Given the description of an element on the screen output the (x, y) to click on. 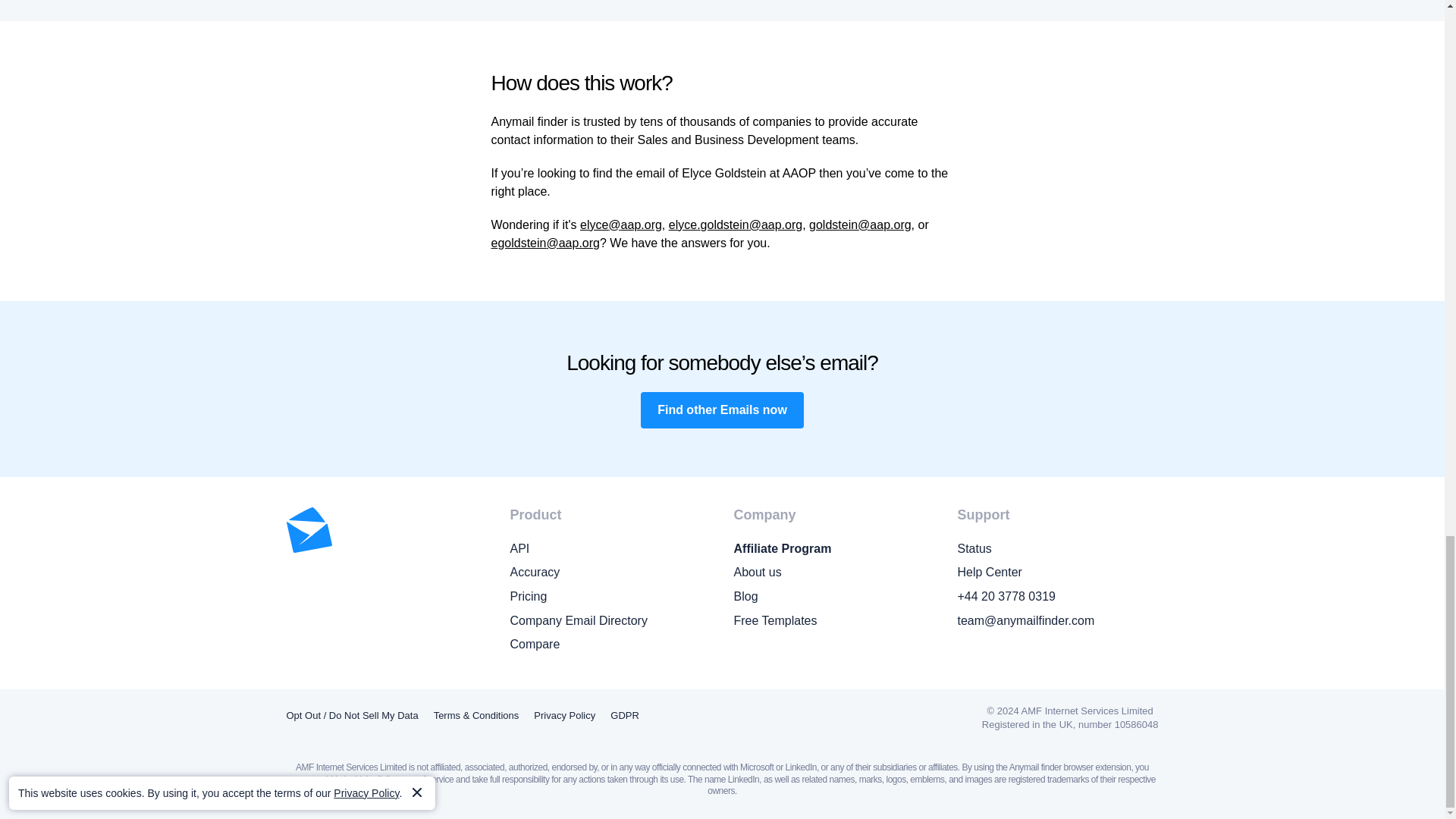
Pricing (609, 596)
Help Center (1056, 572)
Affiliate Program (833, 548)
Company Email Directory (609, 620)
Find other Emails now (721, 410)
Status (1056, 548)
About us (833, 572)
API (609, 548)
Accuracy (609, 572)
Compare (609, 644)
Blog (833, 596)
Free Templates (833, 620)
